Given the description of an element on the screen output the (x, y) to click on. 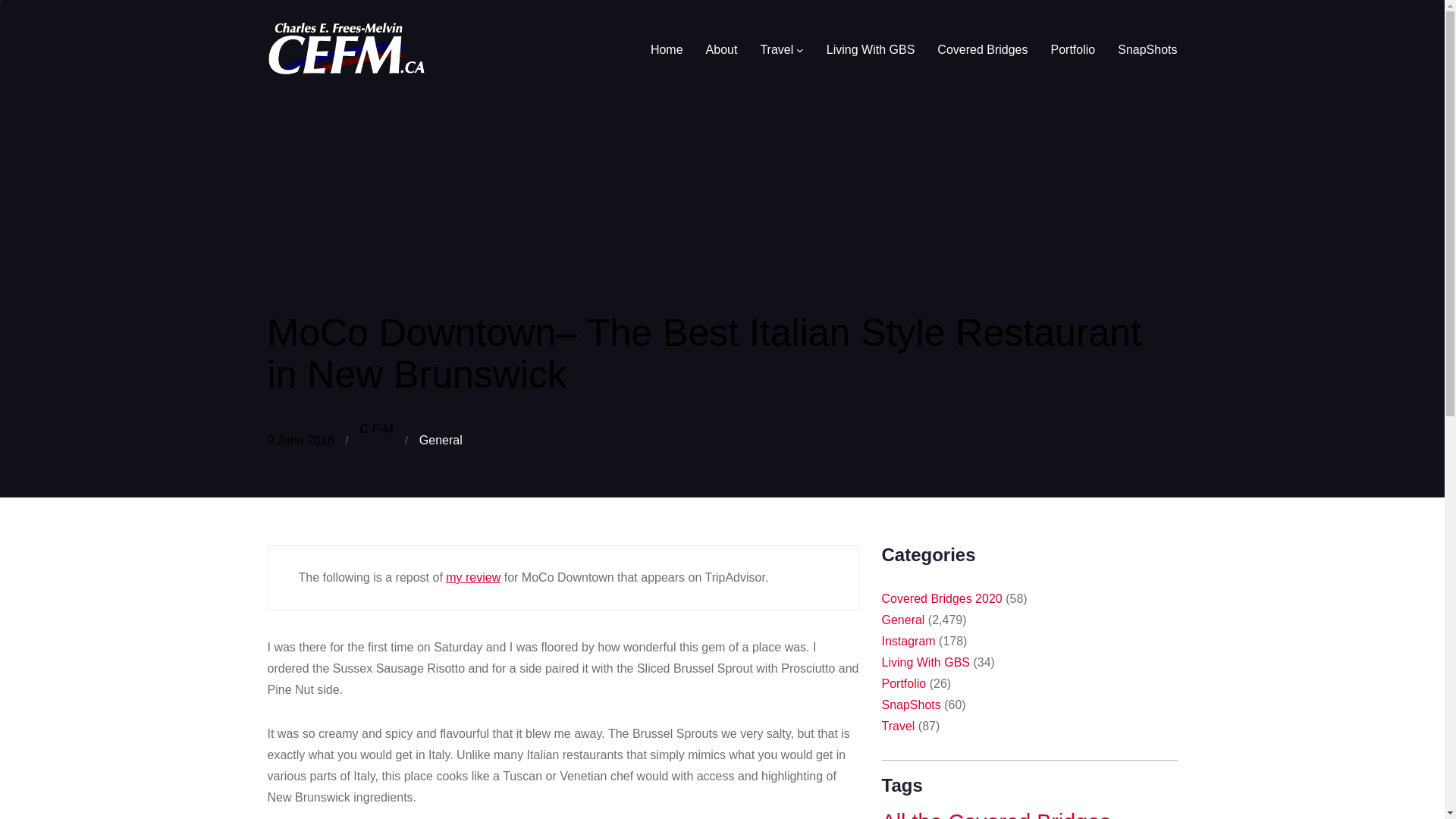
General (441, 440)
SnapShots (1147, 49)
Home (666, 49)
Portfolio (1073, 49)
Living With GBS (870, 49)
my review (472, 576)
About (722, 49)
Covered Bridges (982, 49)
Travel (776, 49)
